Given the description of an element on the screen output the (x, y) to click on. 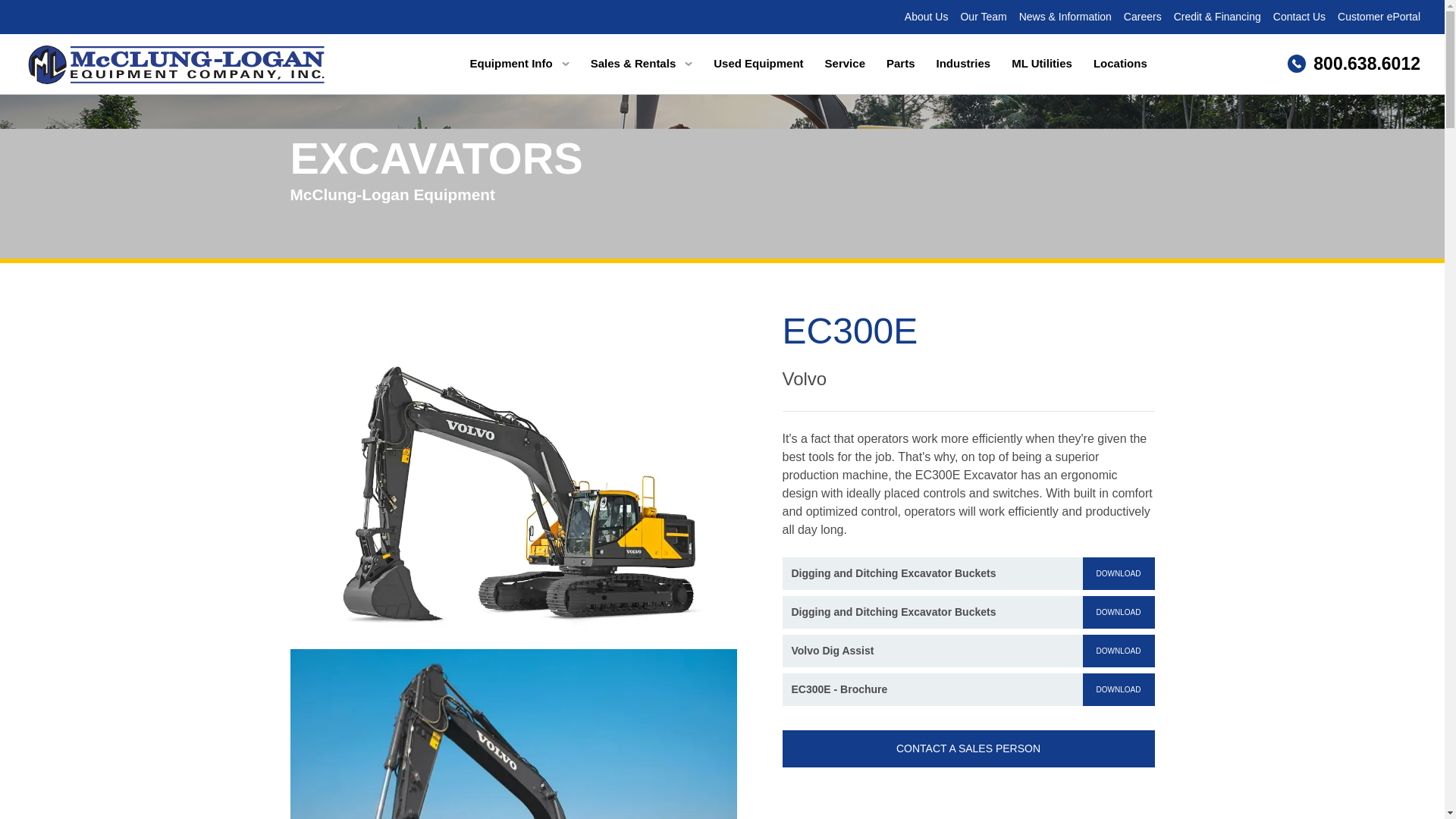
Careers (1142, 17)
Equipment Info (519, 64)
Used Equipment (758, 64)
Our Team (982, 17)
ML Utilities (1041, 64)
Customer ePortal (1379, 17)
About Us (926, 17)
Industries (963, 64)
Contact Us (1298, 17)
